Given the description of an element on the screen output the (x, y) to click on. 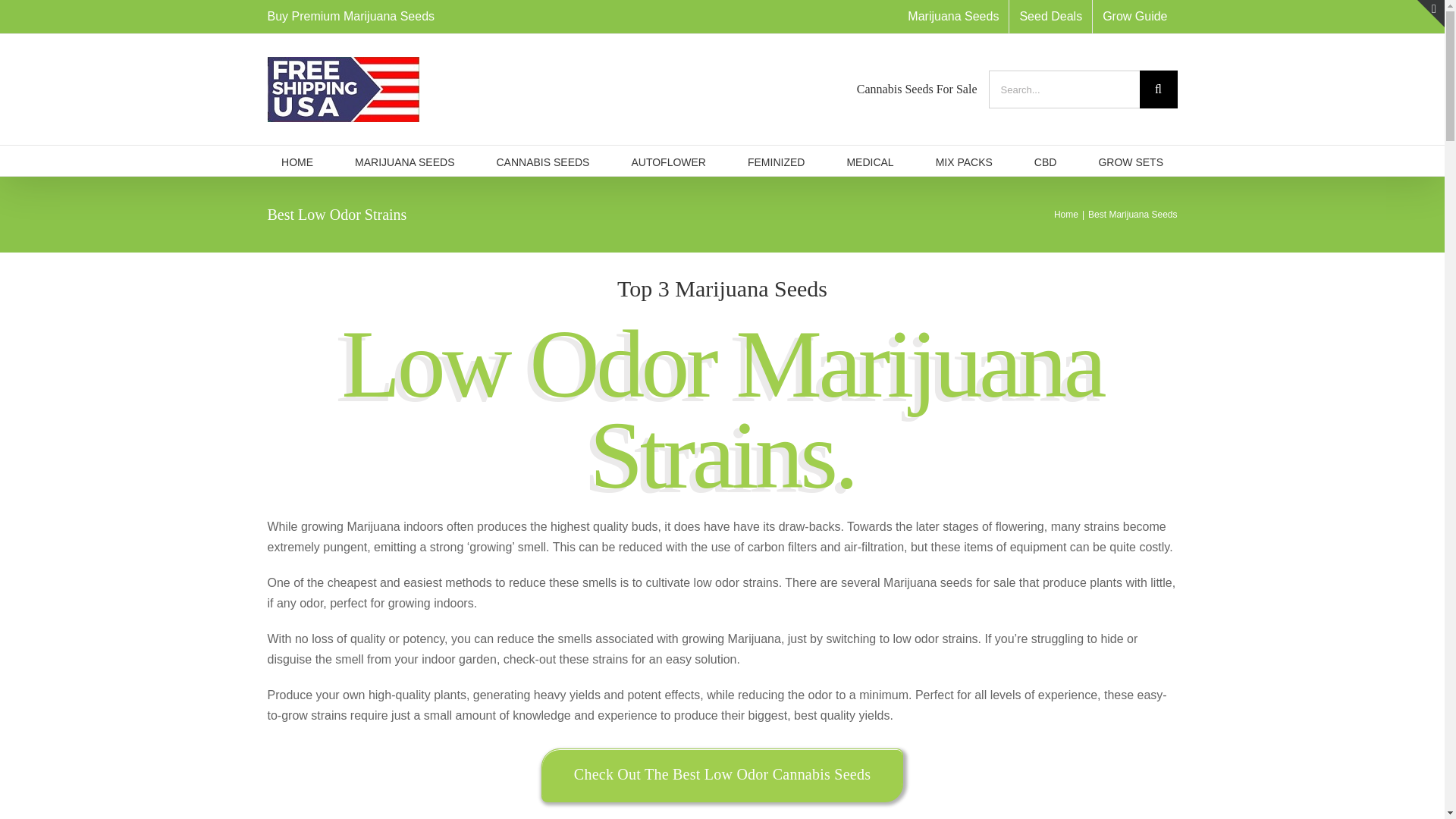
Home (1066, 214)
Marijuana Seeds (297, 160)
GROW SETS (1130, 160)
Best Marijuana Seeds (1131, 214)
Best Marijuana Seeds (404, 160)
Mixed Seeds (964, 160)
Seed Deals (1050, 16)
Complete Grow Sets (1130, 160)
Female Seeds (776, 160)
Free Cannabis Seeds (1050, 16)
Marijuana Seeds (953, 16)
Top 3 Marijuana Seeds (722, 288)
MEDICAL (869, 160)
Marijuana Seeds (953, 16)
Cannabis Seeds (542, 160)
